Given the description of an element on the screen output the (x, y) to click on. 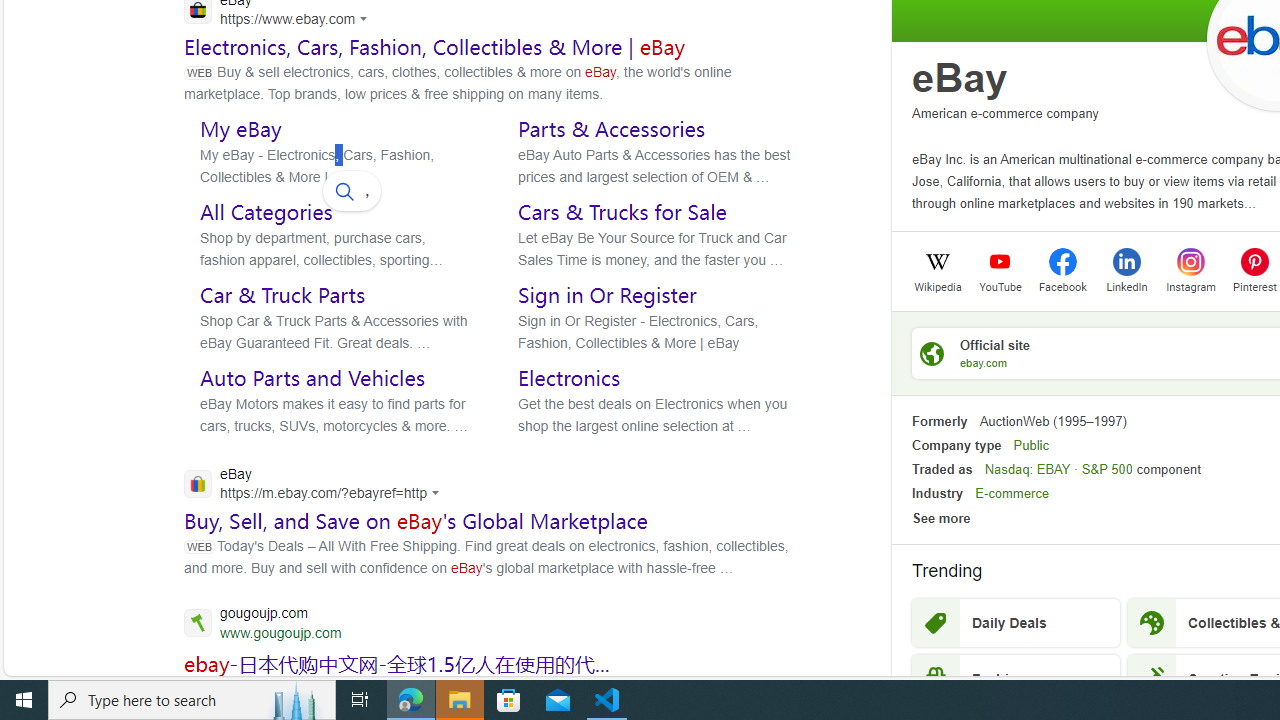
Facebook (1062, 285)
Electronics (569, 377)
E-commerce (1012, 493)
Fashion (1015, 678)
Car & Truck Parts (282, 295)
Public (1030, 444)
YouTube (1000, 285)
SERP,5721 (397, 663)
Daily Deals (1015, 623)
, (351, 190)
Electronics, Cars, Fashion, Collectibles & More | eBay (435, 46)
